Given the description of an element on the screen output the (x, y) to click on. 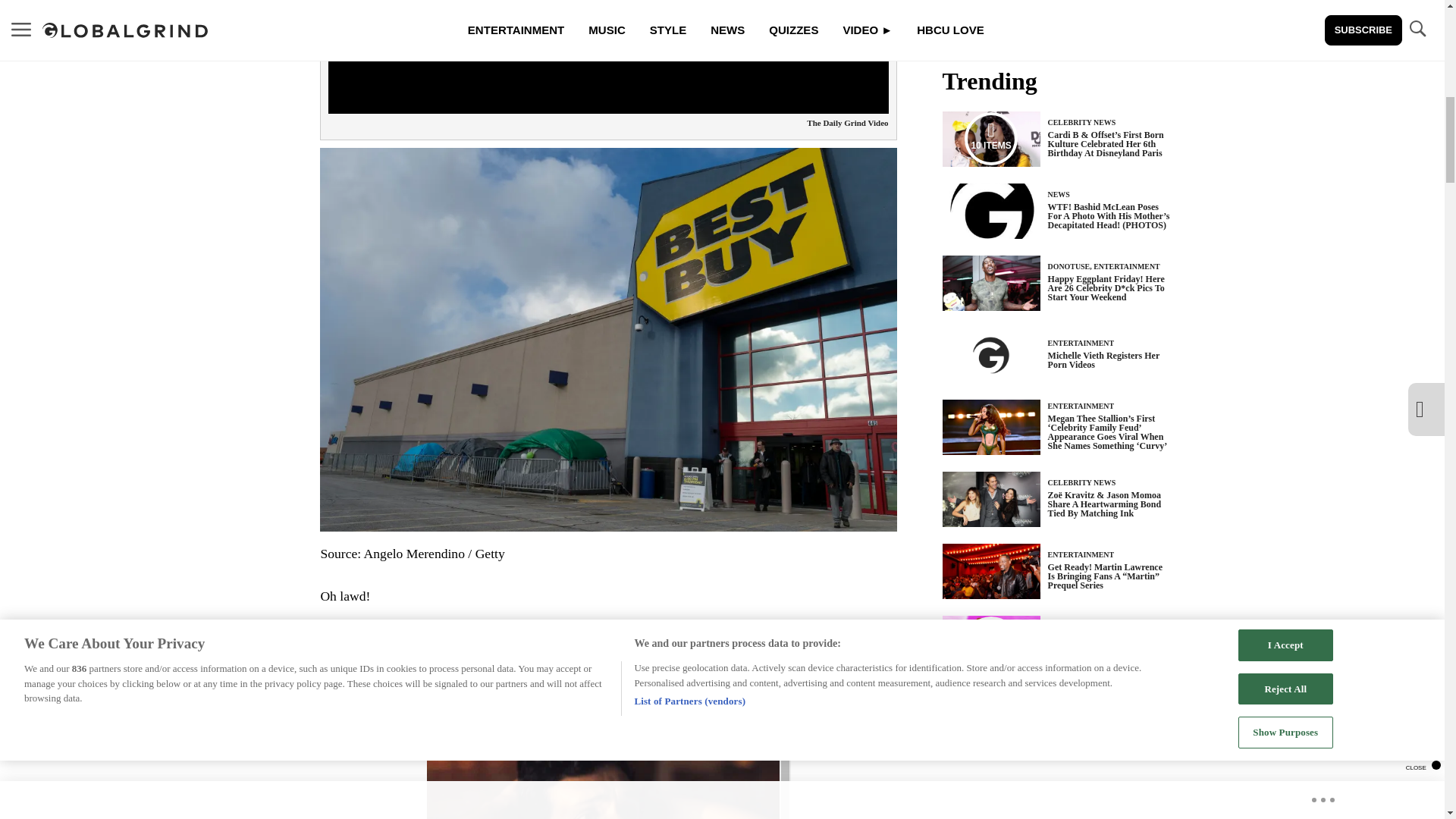
Media Playlist (990, 138)
Media Playlist (990, 642)
Embedded content (608, 741)
